Given the description of an element on the screen output the (x, y) to click on. 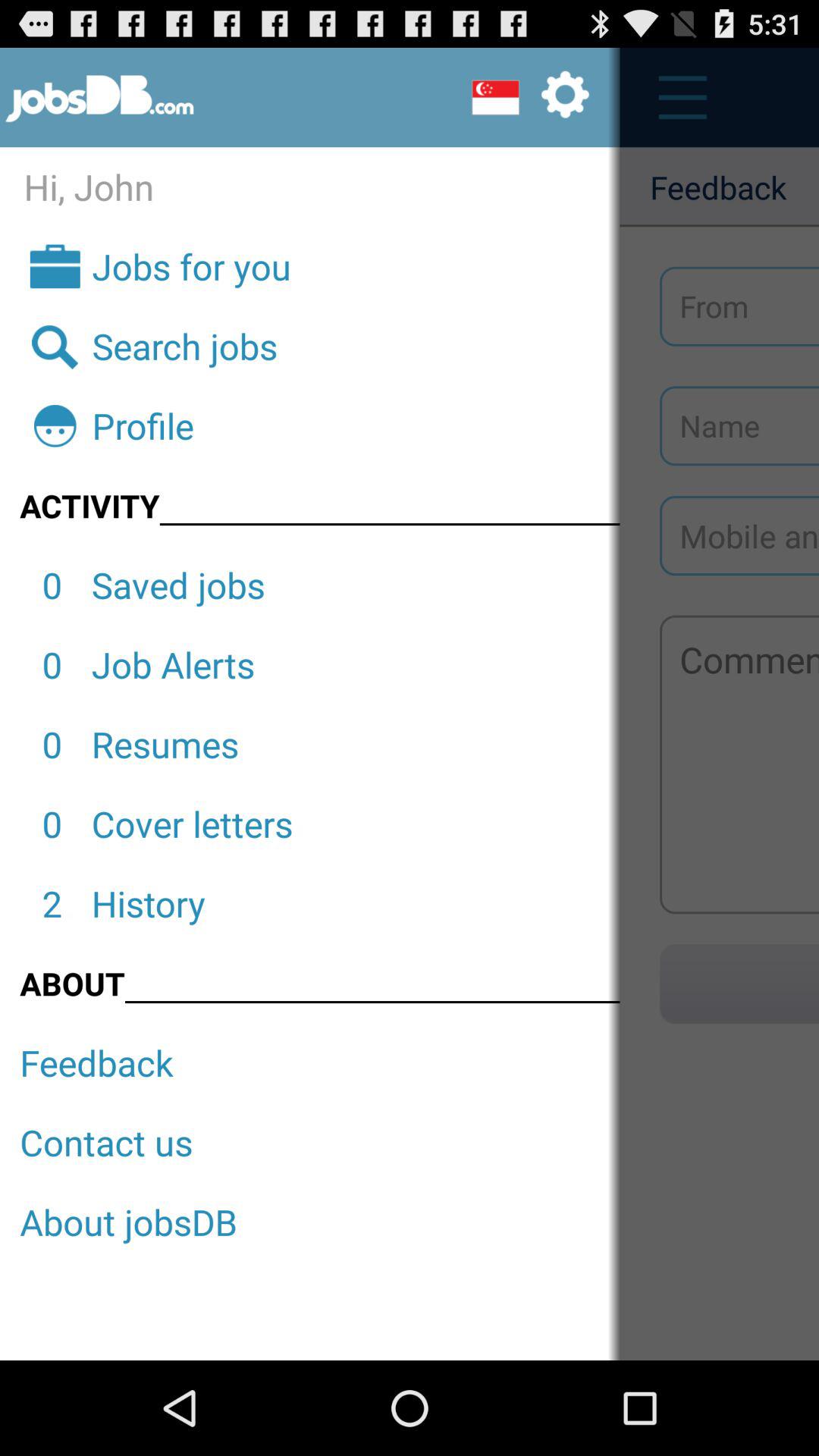
toggle menu (674, 97)
